Given the description of an element on the screen output the (x, y) to click on. 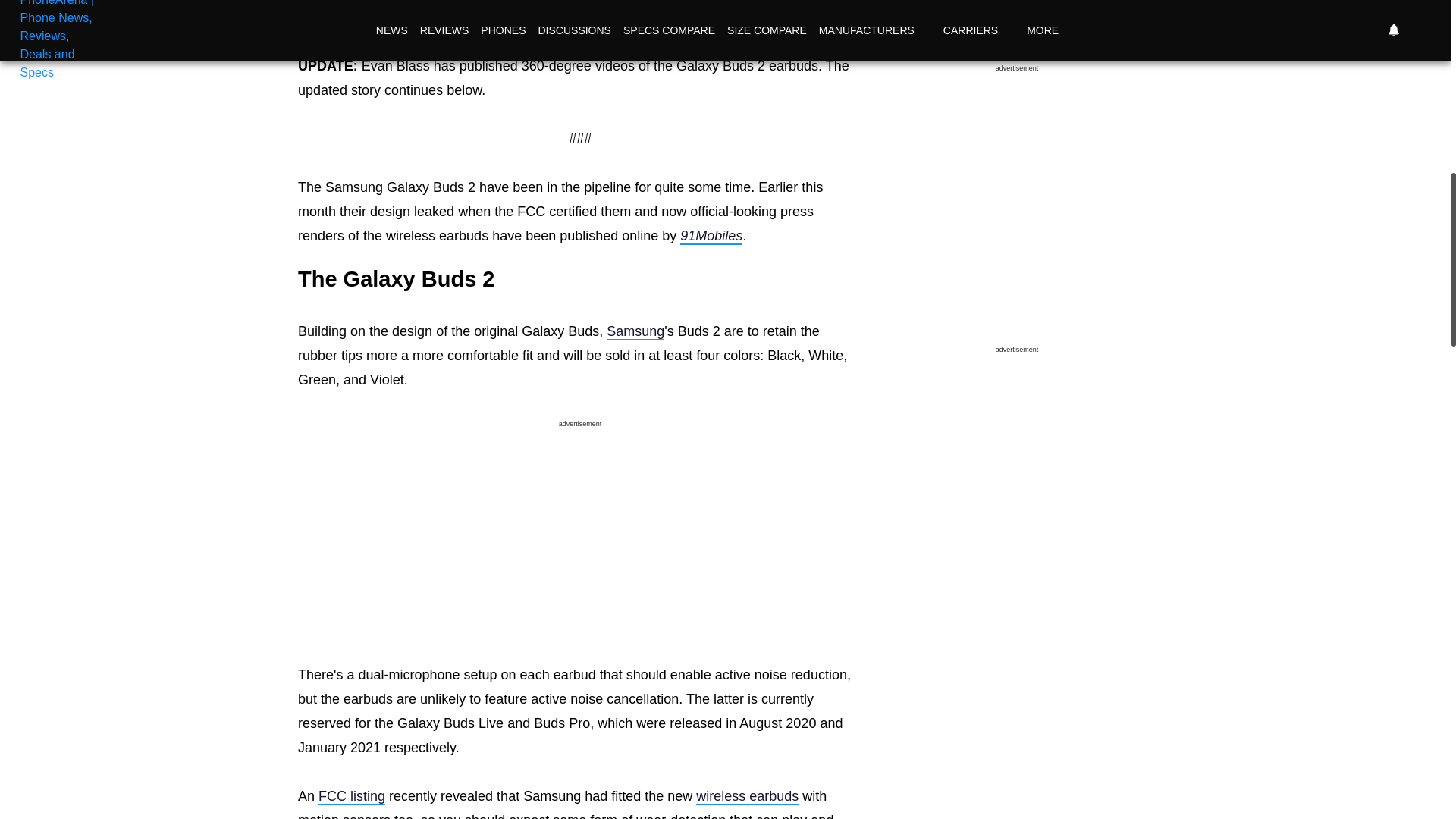
Best true wireless earbuds (746, 796)
Samsung phones, news and reviews (635, 330)
Samsung Galaxy Buds 2 design and specs leak via FCC listing (351, 796)
